Given the description of an element on the screen output the (x, y) to click on. 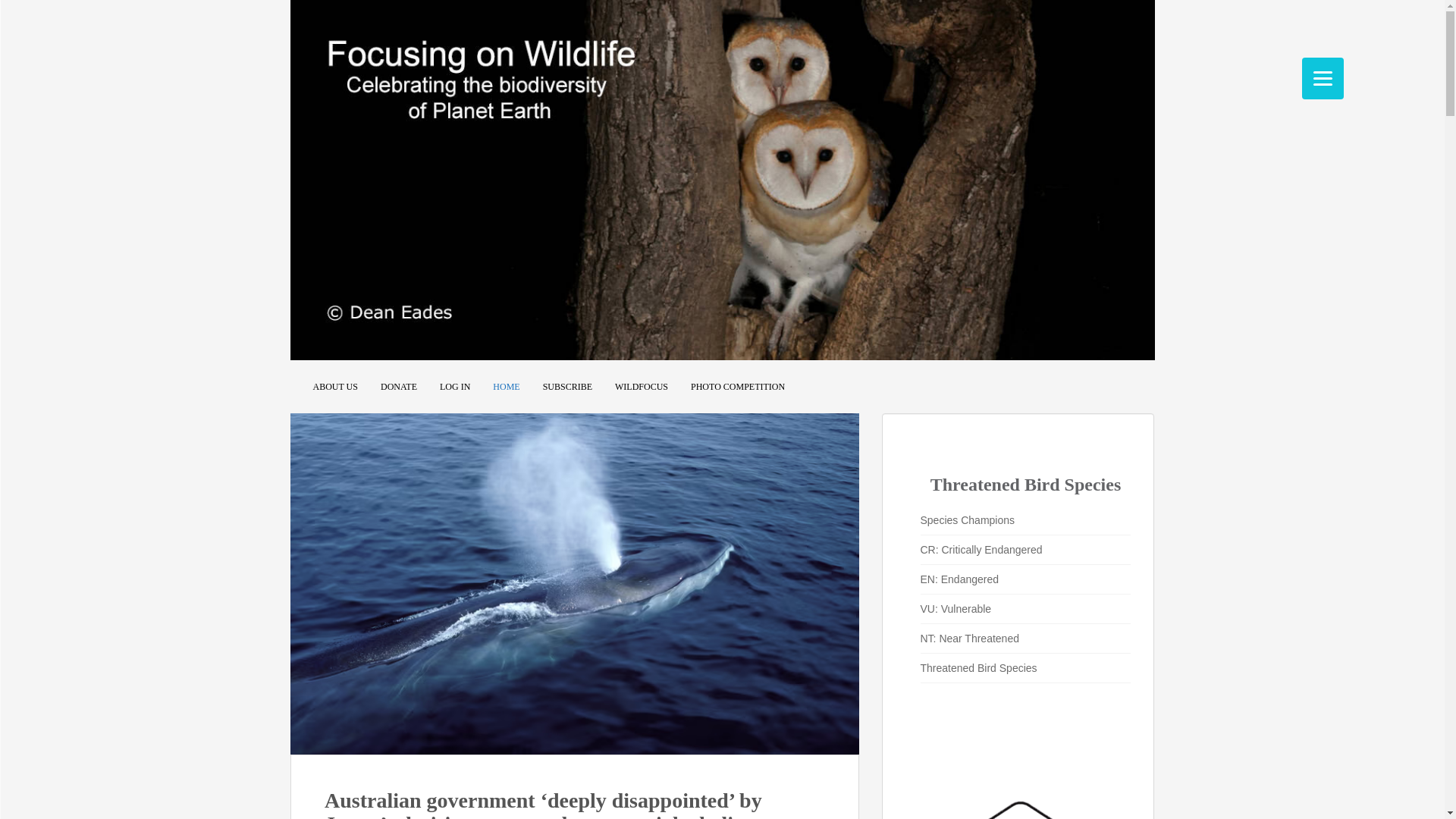
SUBSCRIBE (567, 386)
ABOUT US (334, 386)
PHOTO COMPETITION (737, 386)
DONATE (398, 386)
WILDFOCUS (641, 386)
LOG IN (454, 386)
